Given the description of an element on the screen output the (x, y) to click on. 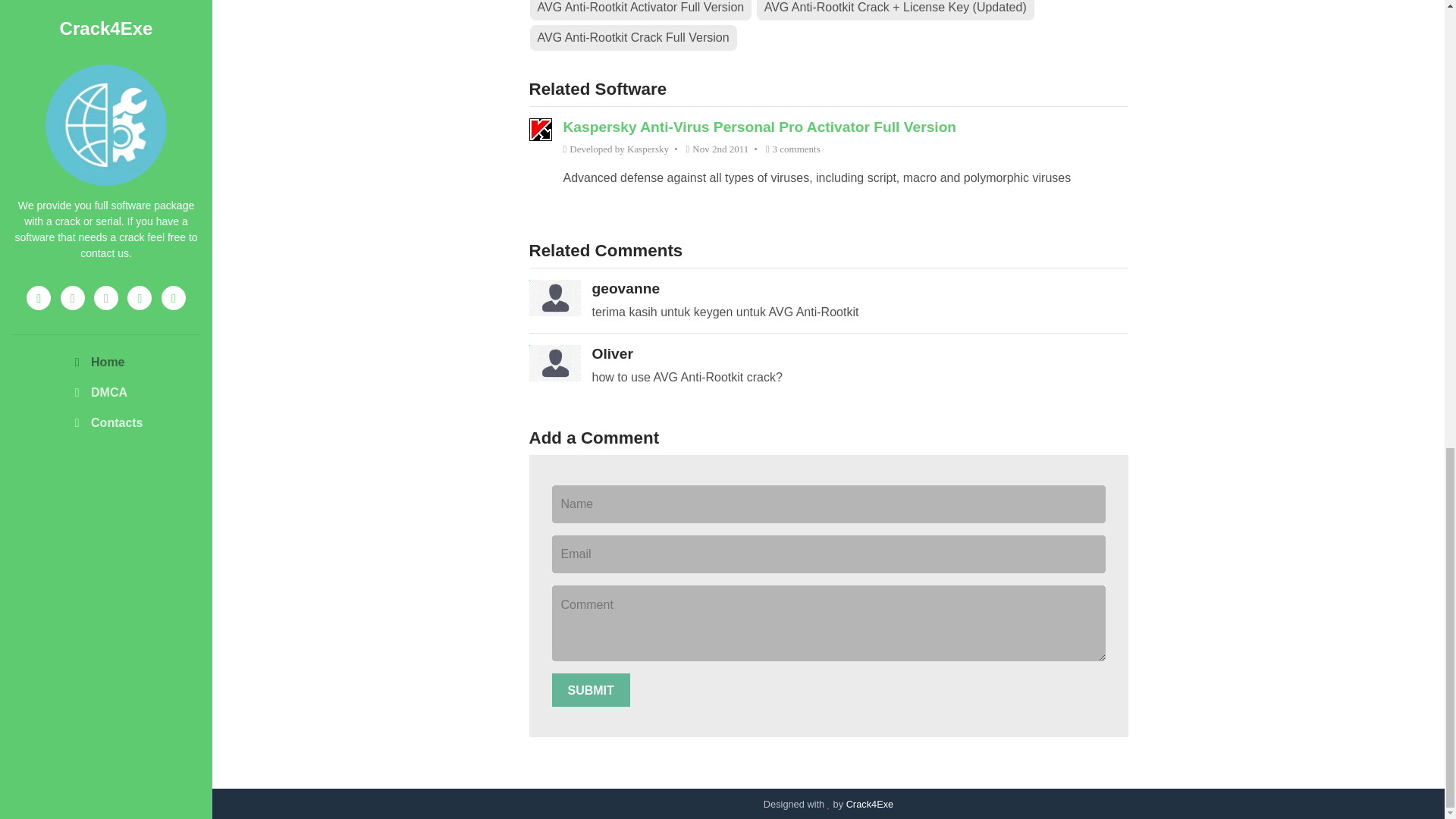
SUBMIT (590, 689)
Crack4Exe (869, 803)
Kaspersky Anti-Virus Personal Pro Activator Full Version (759, 126)
